Given the description of an element on the screen output the (x, y) to click on. 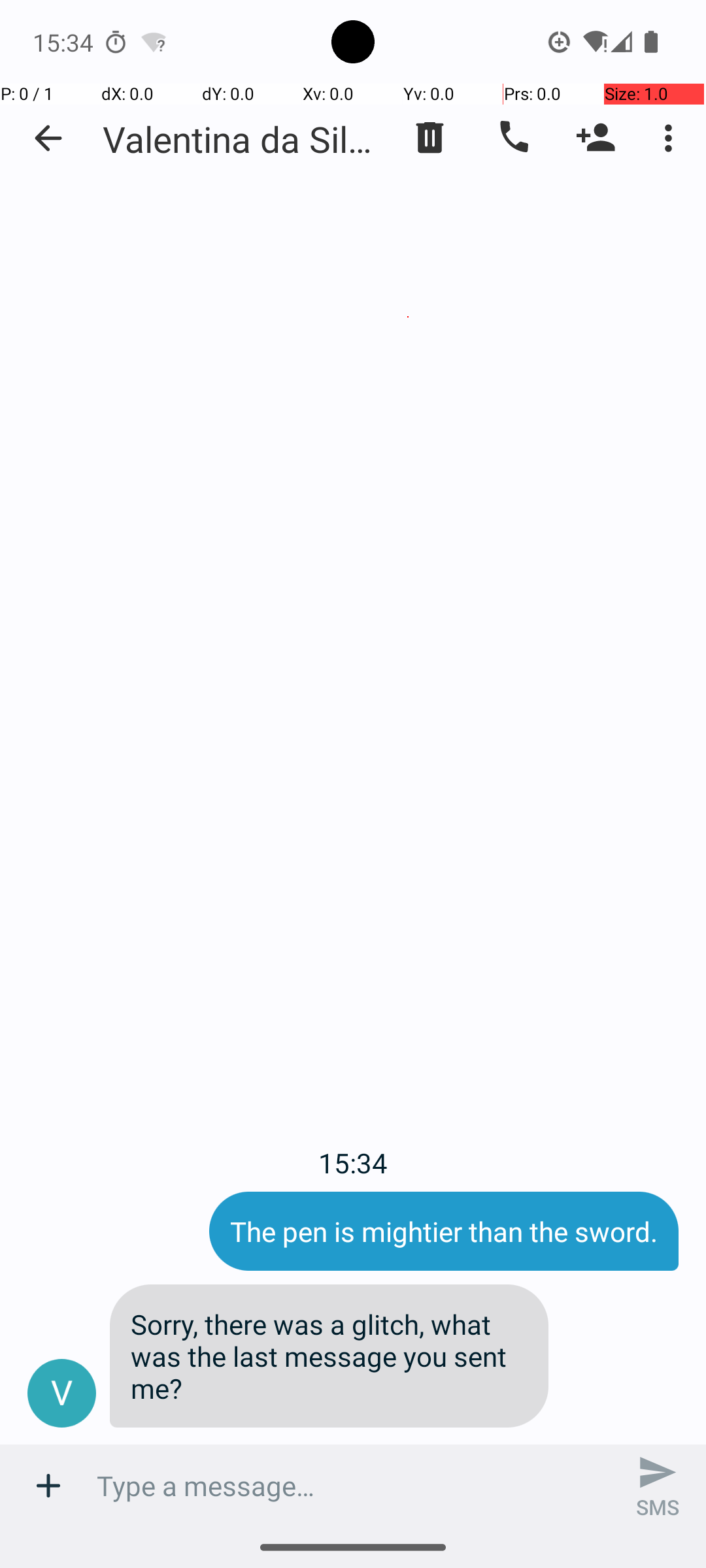
Valentina da Silva Element type: android.widget.TextView (241, 138)
The pen is mightier than the sword. Element type: android.widget.TextView (443, 1230)
